Given the description of an element on the screen output the (x, y) to click on. 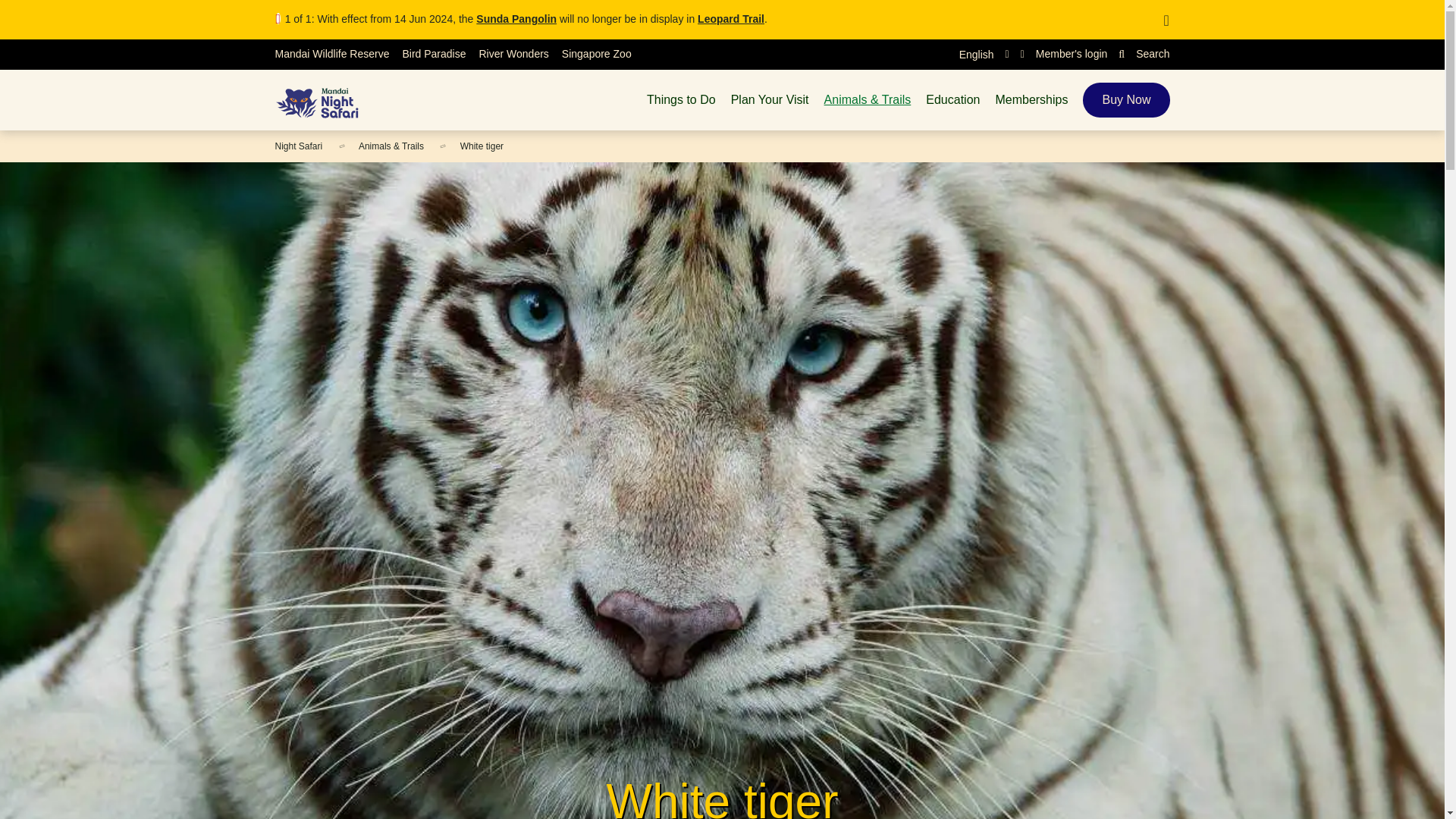
Sunda Pangolin (516, 19)
Mandai Wildlife Reserve (331, 53)
Things to Do (681, 100)
close (1166, 20)
Singapore Zoo (596, 53)
Mandai Wildlife Reserve (331, 53)
Things to Do (681, 100)
Member's login (1064, 53)
Singapore Zoo (596, 53)
River Wonders (513, 53)
Night Safari (324, 99)
Leopard Trail (730, 19)
Plan Your Visit (769, 100)
Bird Paradise (433, 53)
River Wonders (513, 53)
